Given the description of an element on the screen output the (x, y) to click on. 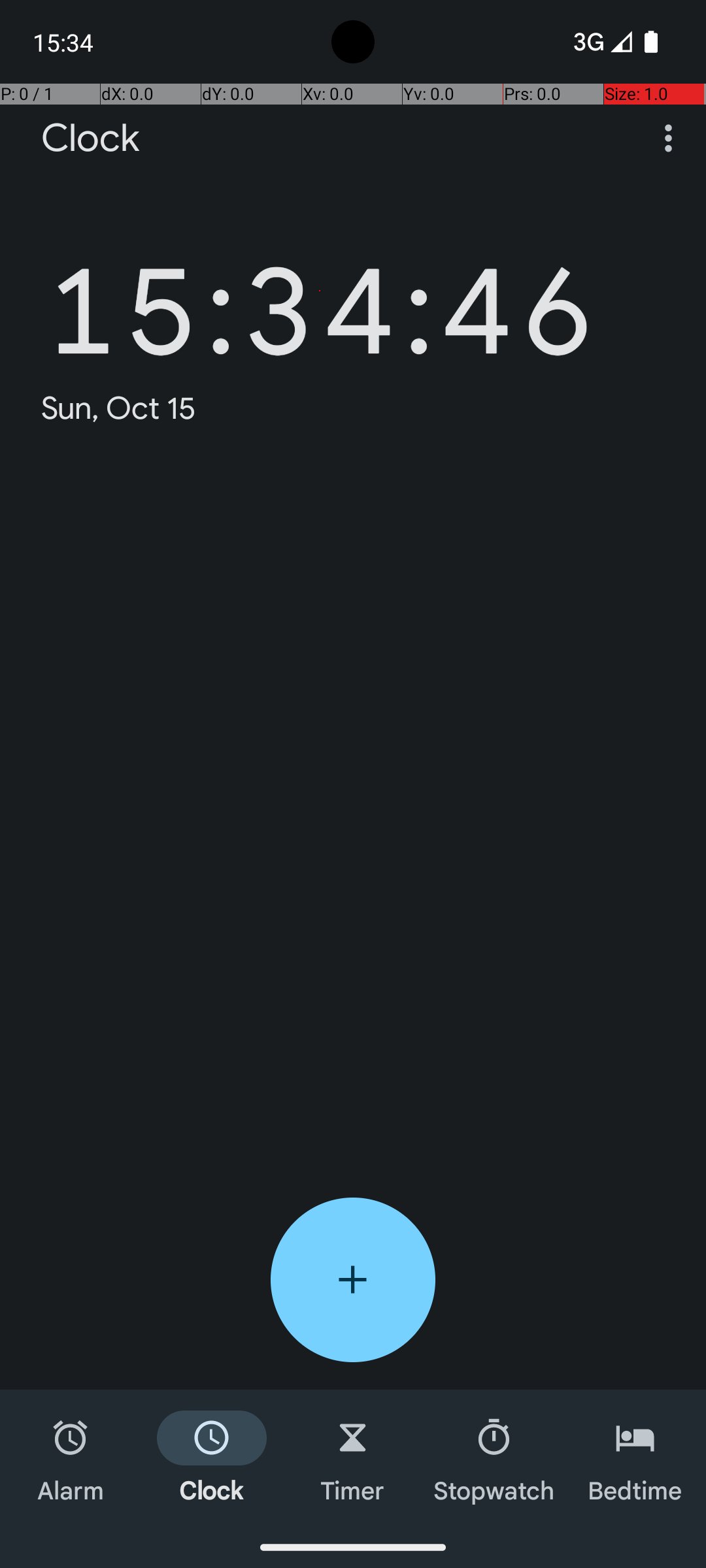
15:34:46 Element type: android.widget.TextView (319, 290)
